Given the description of an element on the screen output the (x, y) to click on. 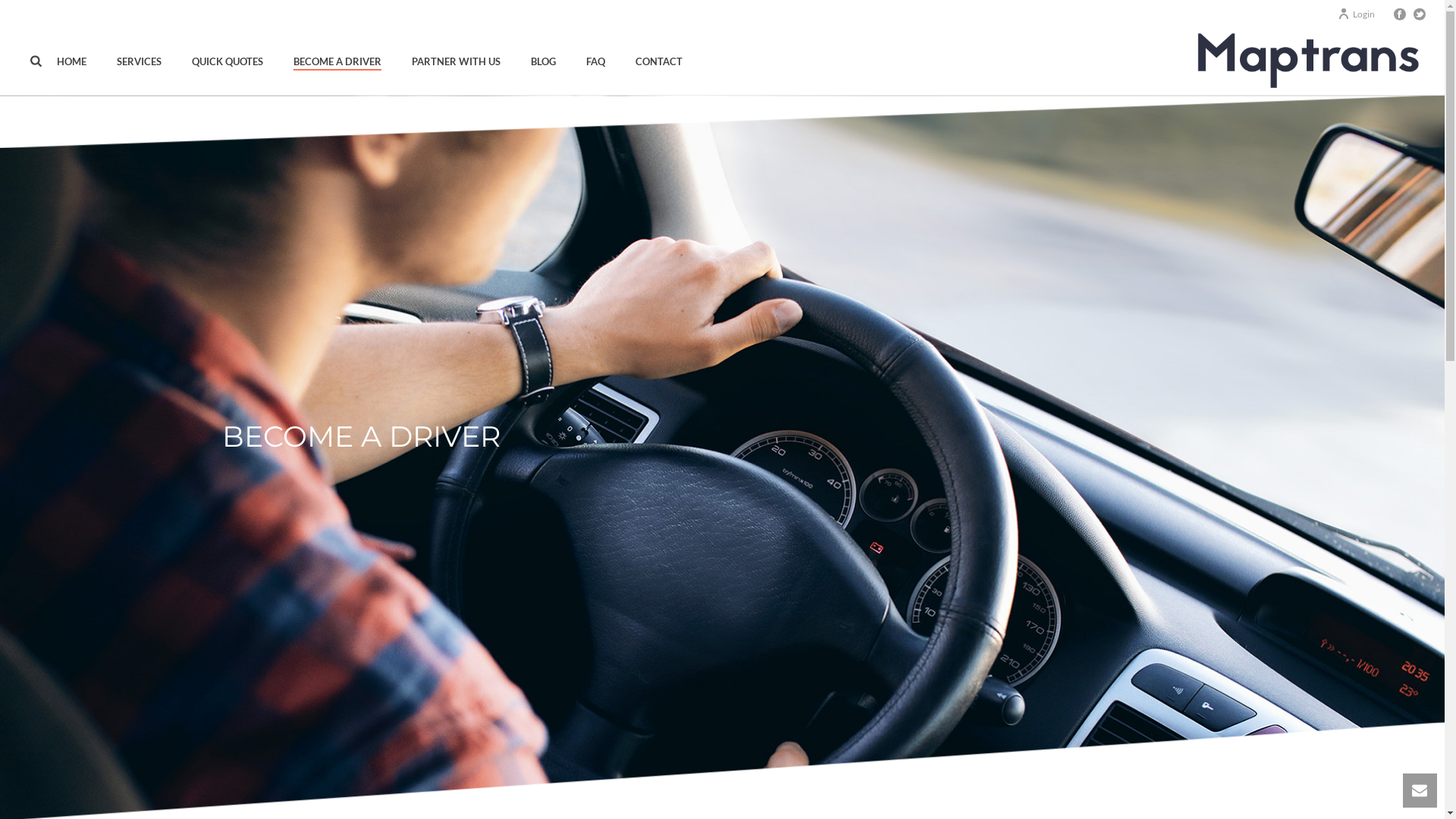
Contact Element type: text (824, 646)
admin@syn07ee.syd5.hostyourservices.net Element type: text (425, 646)
QUICK QUOTES Element type: text (227, 61)
Local Freight Element type: text (502, 646)
BECOME A DRIVER Element type: text (337, 61)
Become a driver Element type: text (1010, 646)
Partner With Us Element type: text (1010, 625)
Taxi Trucks Element type: text (497, 667)
3PL Element type: text (647, 604)
Follow Us on twitter Element type: hover (344, 698)
Follow Us on facebook Element type: hover (313, 698)
We Deliver Element type: hover (1304, 60)
FAQ Element type: text (815, 667)
(02) 9669 4888 Element type: text (359, 623)
FAQ Element type: text (595, 61)
Grey Matter Solutions Element type: text (635, 797)
Quick Quotes Element type: text (1004, 604)
Interstate and Country Element type: text (524, 625)
Specialised Services Element type: text (684, 667)
International Element type: text (502, 604)
HOME Element type: text (71, 61)
Login Element type: text (1355, 13)
CONTACT Element type: text (658, 61)
Home Element type: text (819, 604)
PARTNER WITH US Element type: text (455, 61)
Blog Element type: text (815, 625)
BLOG Element type: text (543, 61)
Quarantine Element type: text (665, 646)
SERVICES Element type: text (138, 61)
FCL Element type: text (647, 625)
